Given the description of an element on the screen output the (x, y) to click on. 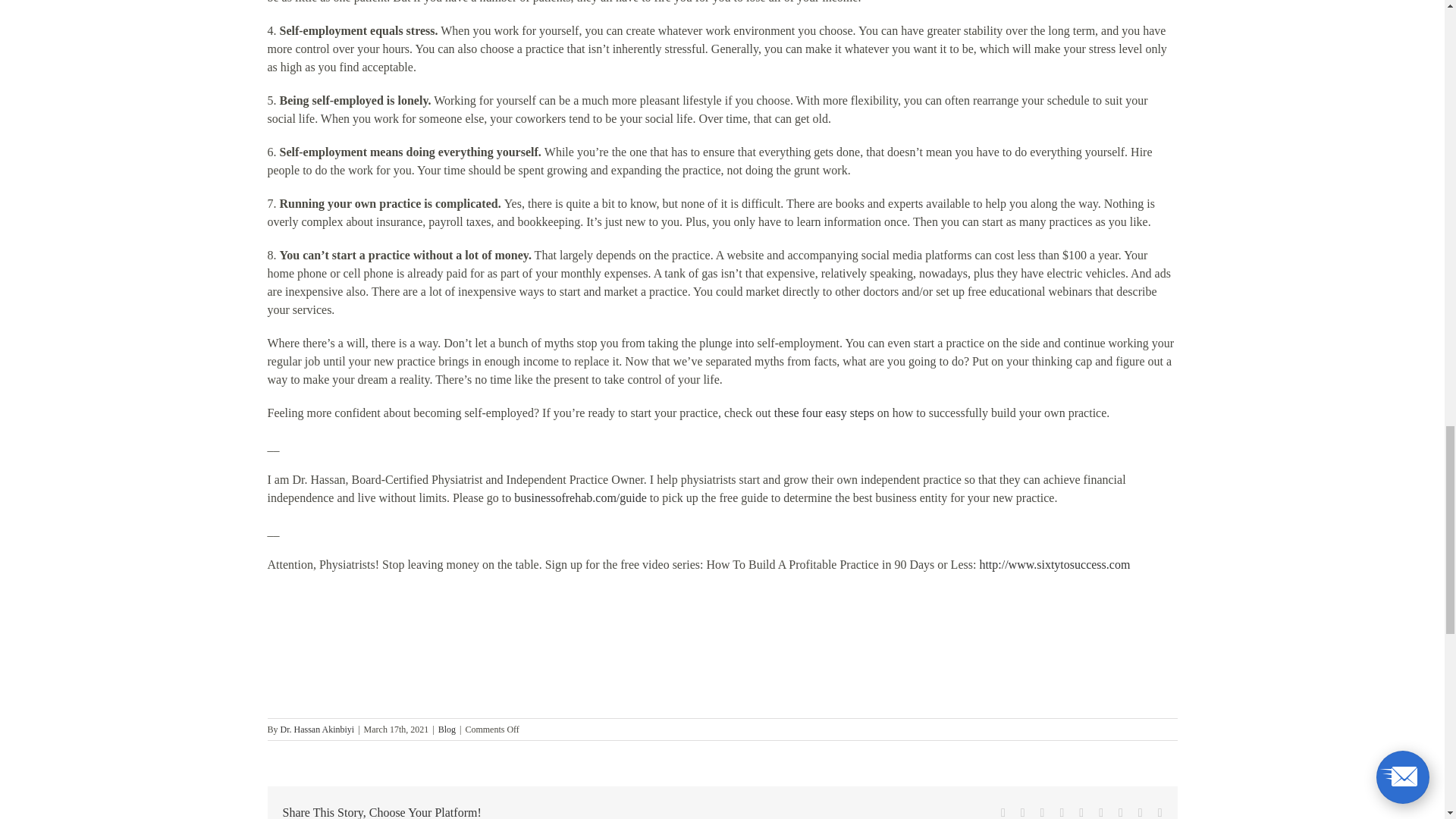
these four easy steps (825, 412)
Posts by Dr. Hassan Akinbiyi (318, 728)
Inline image (380, 645)
